Given the description of an element on the screen output the (x, y) to click on. 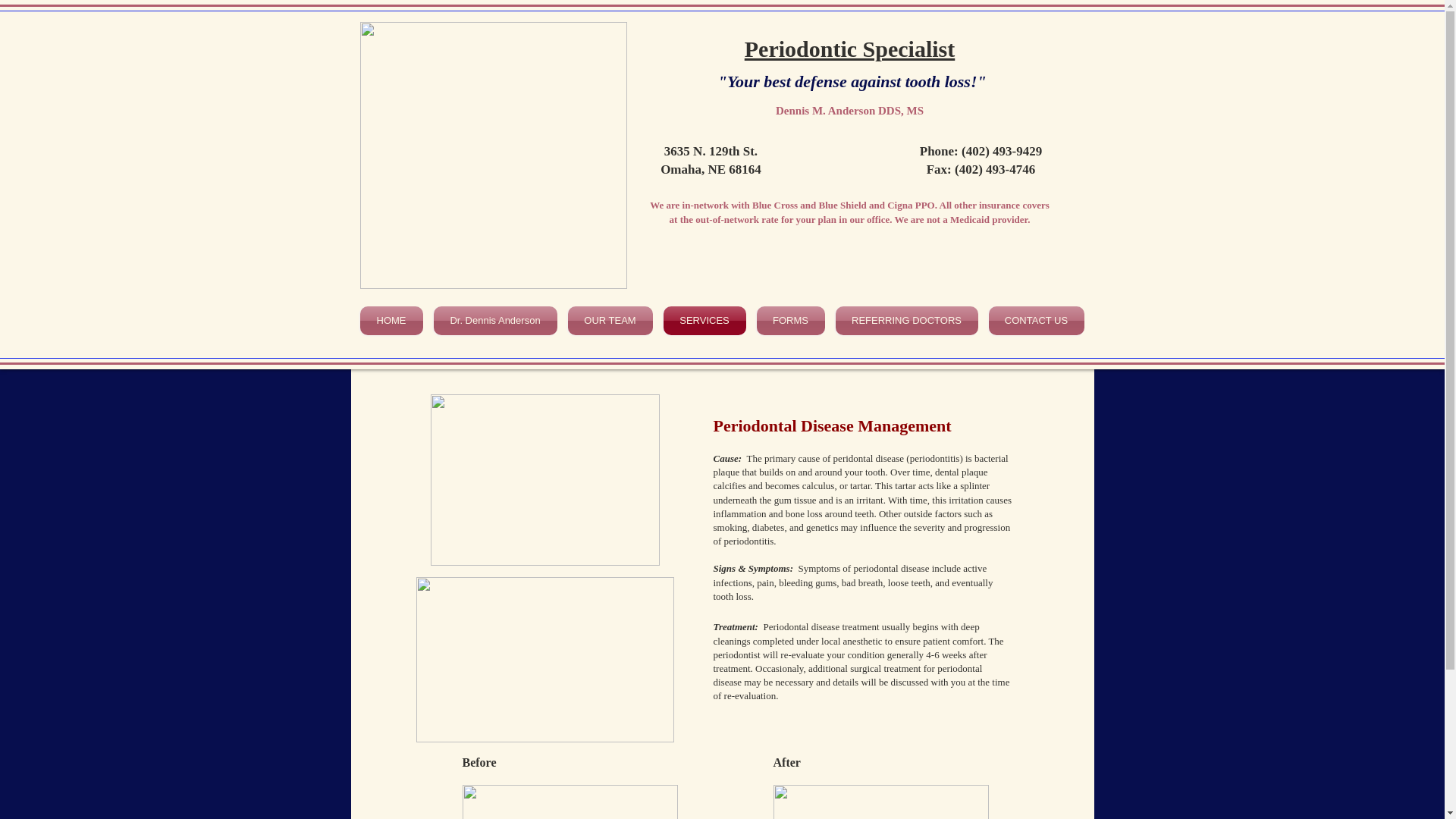
CONTACT US (1032, 320)
Dr. Dennis Anderson (495, 320)
AAP-CDC Infographic (544, 479)
REFERRING DOCTORS (905, 320)
HOME (393, 320)
GDS Logo2tonetwinkle.png (492, 155)
Pathology of Periodontitis (543, 659)
Lower teeth, inflamed bleeding gingiva, tartar deposits (570, 801)
OUR TEAM (610, 320)
